Given the description of an element on the screen output the (x, y) to click on. 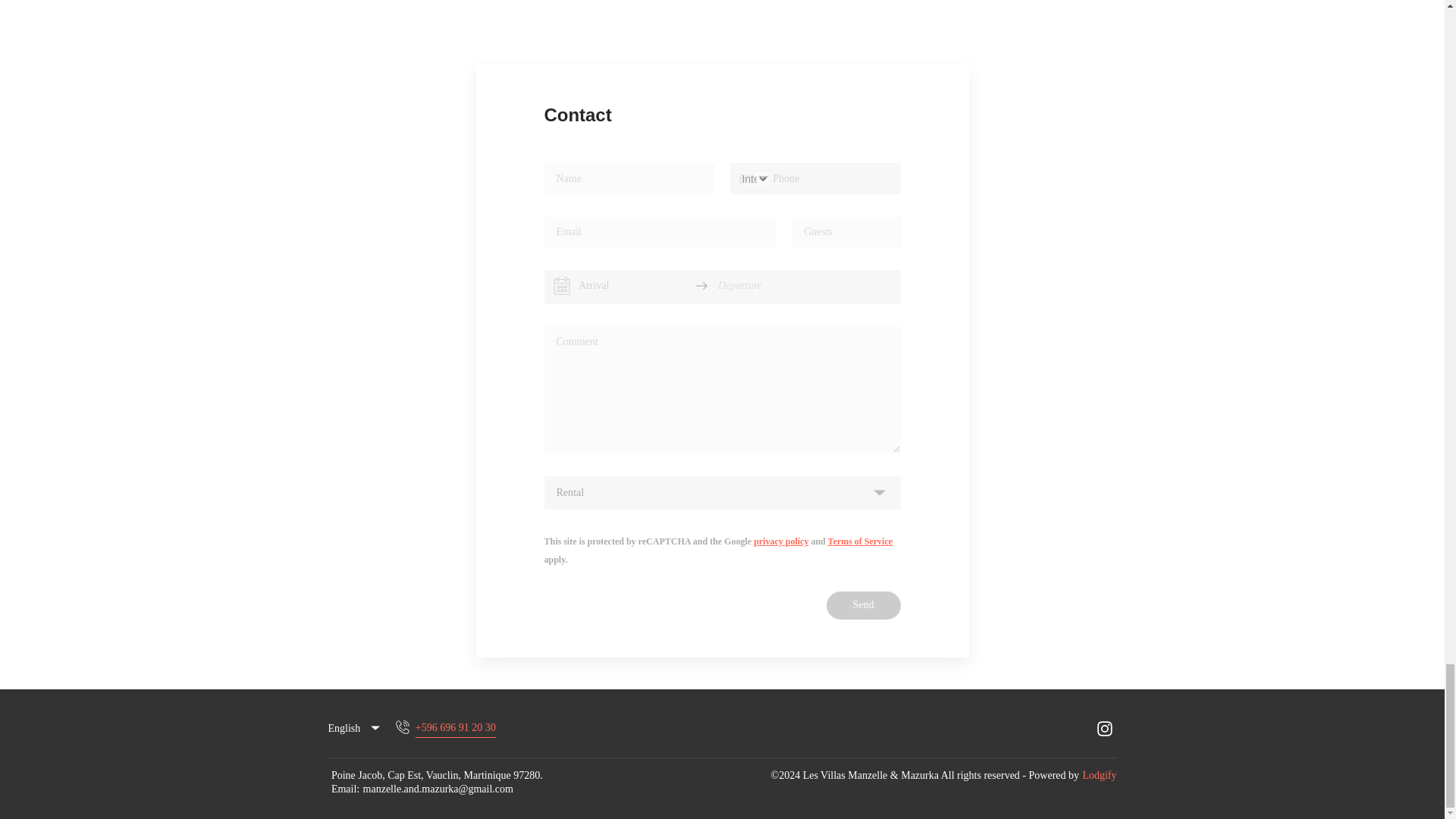
privacy policy (781, 541)
English (354, 728)
Terms of Service (860, 541)
